Given the description of an element on the screen output the (x, y) to click on. 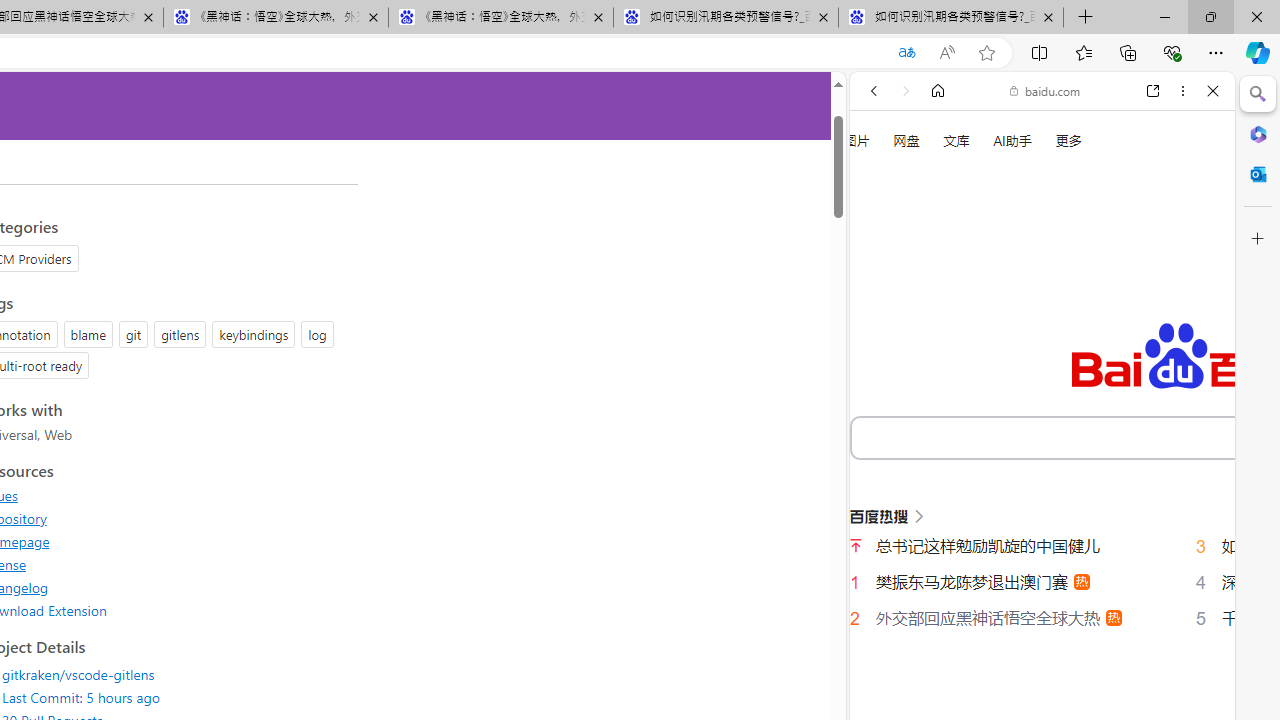
Learn more (943, 272)
baidu.com (1045, 90)
